Given the description of an element on the screen output the (x, y) to click on. 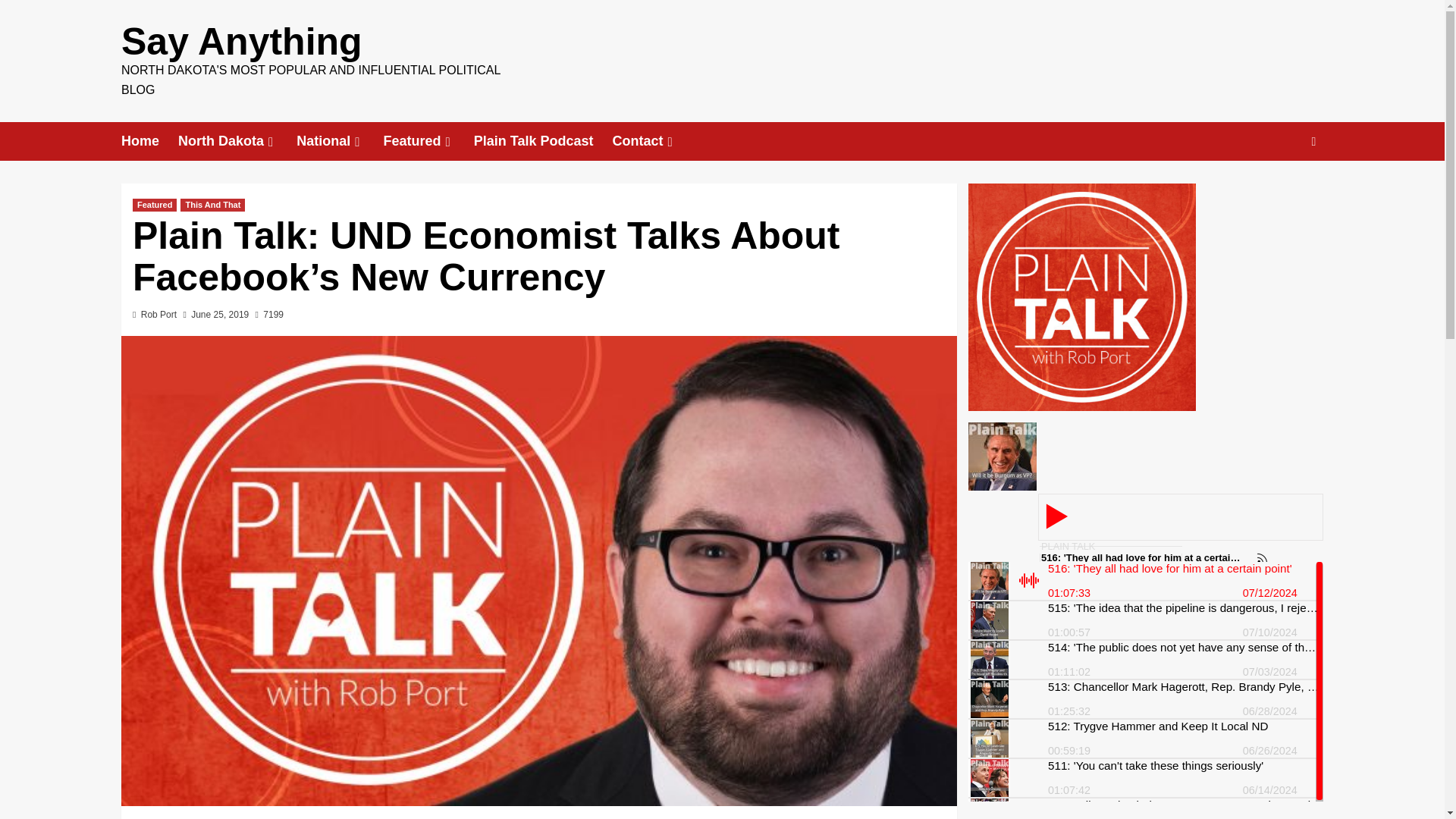
Search (1278, 188)
Search (1313, 140)
North Dakota (237, 141)
7199 (269, 314)
Contact (653, 141)
Say Anything (241, 41)
June 25, 2019 (219, 314)
Featured (154, 205)
Featured (427, 141)
Rob Port (158, 314)
This And That (212, 205)
National (339, 141)
Home (148, 141)
Plain Talk Podcast (543, 141)
